Given the description of an element on the screen output the (x, y) to click on. 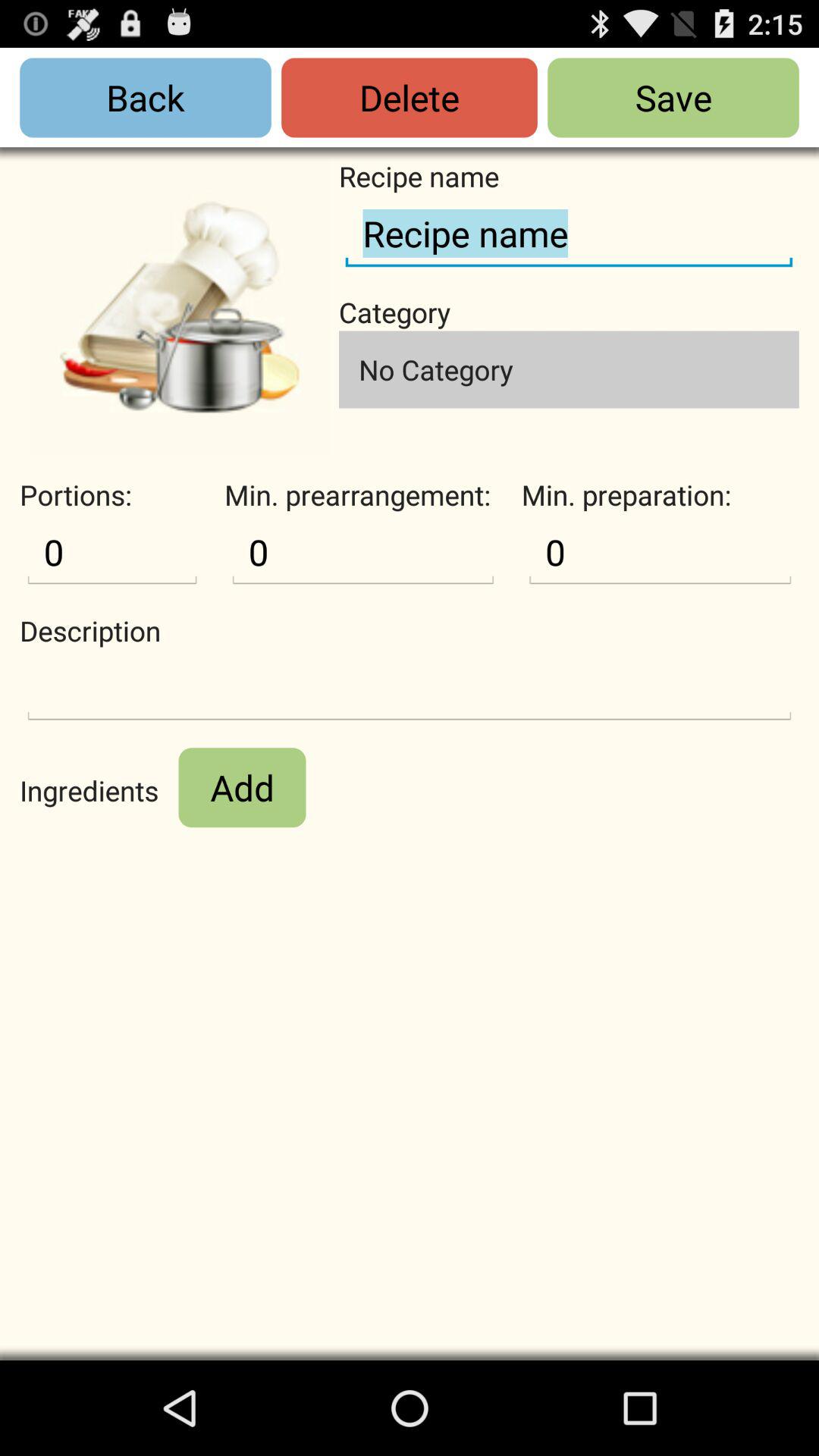
description input field (409, 688)
